Given the description of an element on the screen output the (x, y) to click on. 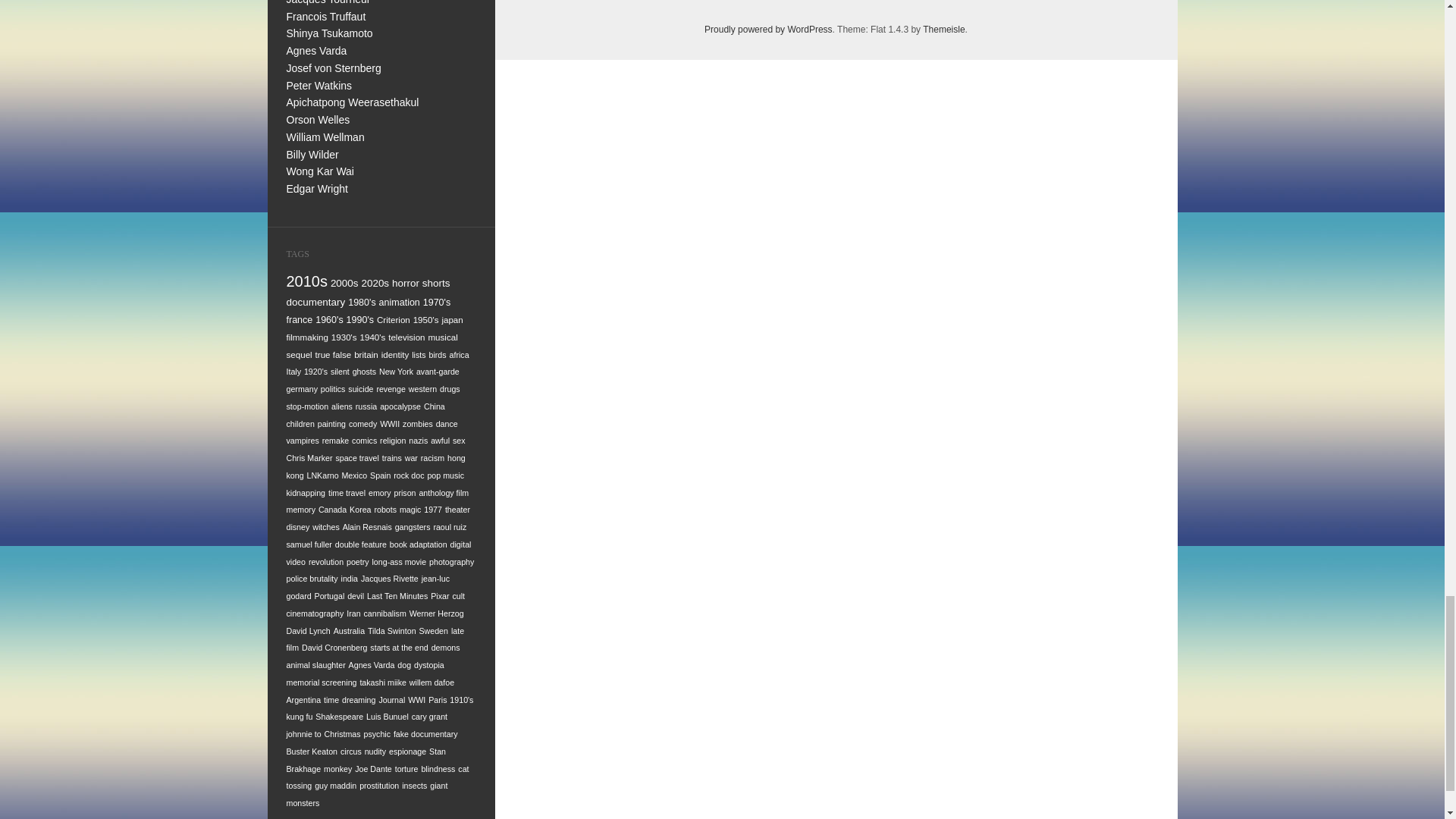
254 topics (299, 319)
971 topics (307, 280)
250 topics (329, 319)
319 topics (316, 301)
341 topics (374, 283)
338 topics (405, 283)
167 topics (452, 319)
352 topics (344, 283)
274 topics (399, 302)
269 topics (437, 302)
162 topics (307, 337)
241 topics (360, 319)
196 topics (426, 319)
288 topics (361, 302)
323 topics (435, 283)
